Given the description of an element on the screen output the (x, y) to click on. 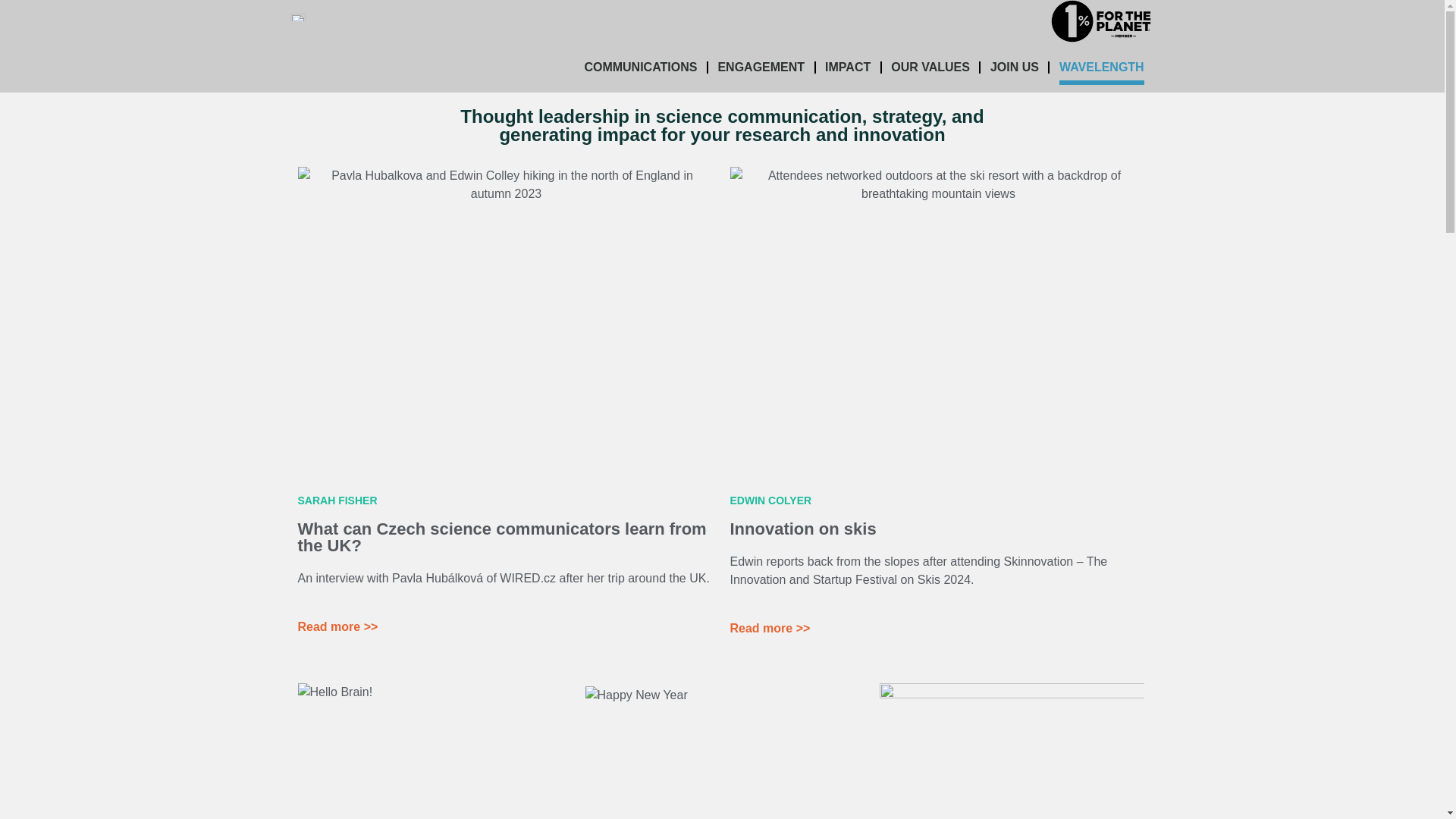
OUR VALUES (930, 67)
IMPACT (847, 67)
ENGAGEMENT (761, 67)
JOIN US (1014, 67)
WAVELENGTH (1101, 67)
COMMUNICATIONS (640, 67)
